Given the description of an element on the screen output the (x, y) to click on. 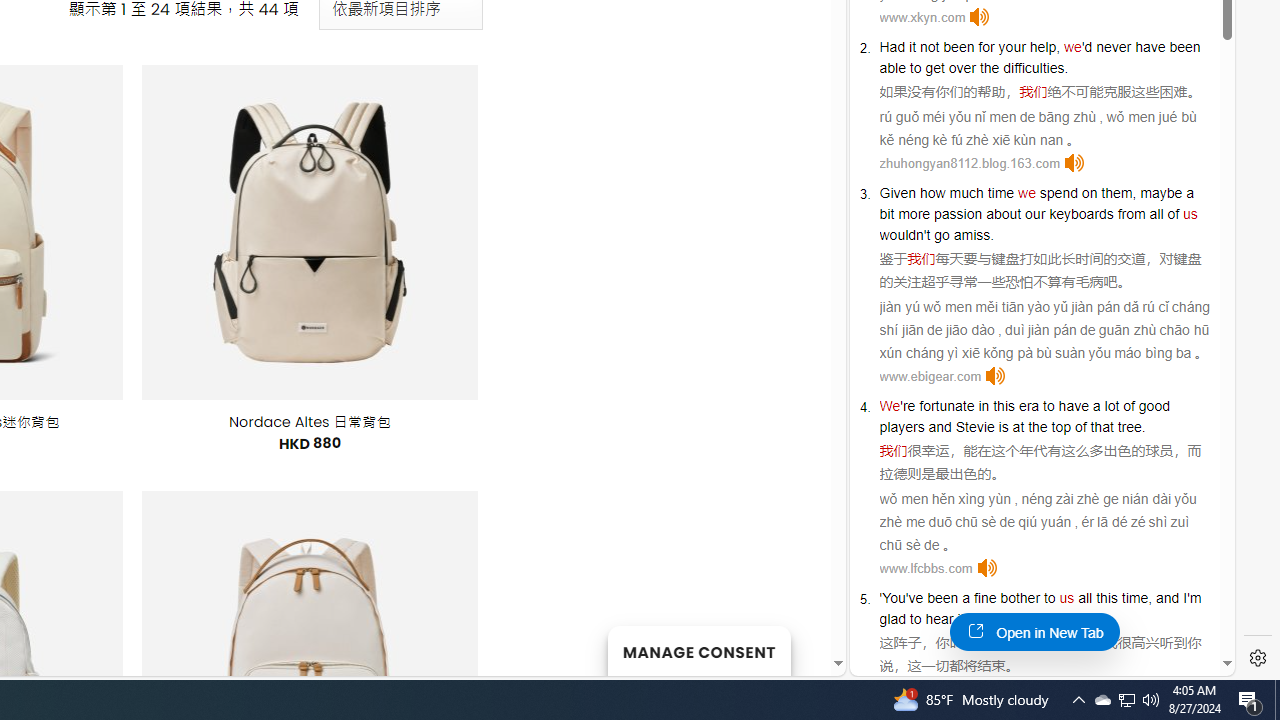
about (1003, 213)
MANAGE CONSENT (698, 650)
era (1028, 405)
to (1048, 405)
' (881, 597)
